Given the description of an element on the screen output the (x, y) to click on. 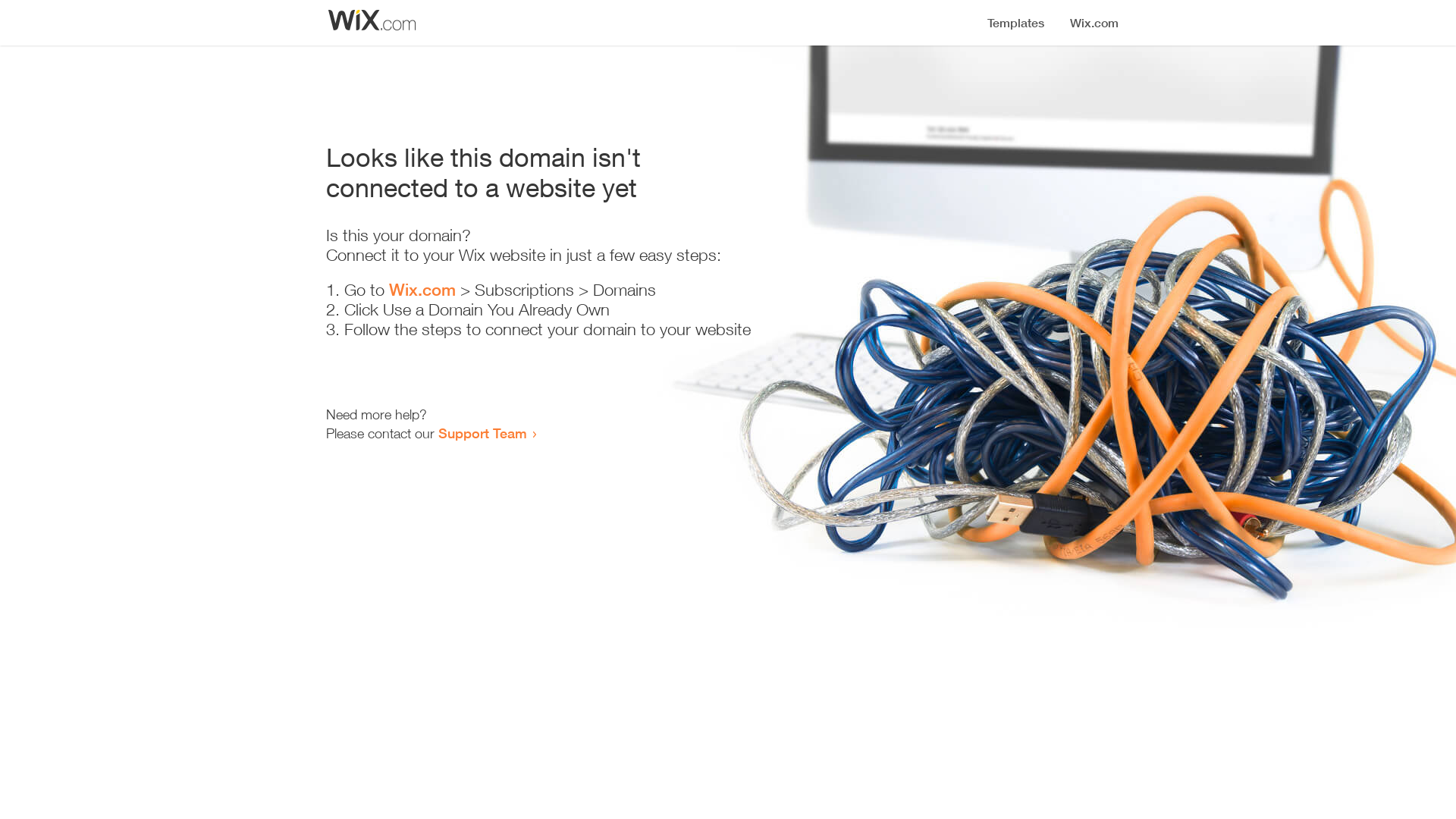
Wix.com Element type: text (422, 289)
Support Team Element type: text (482, 432)
